Given the description of an element on the screen output the (x, y) to click on. 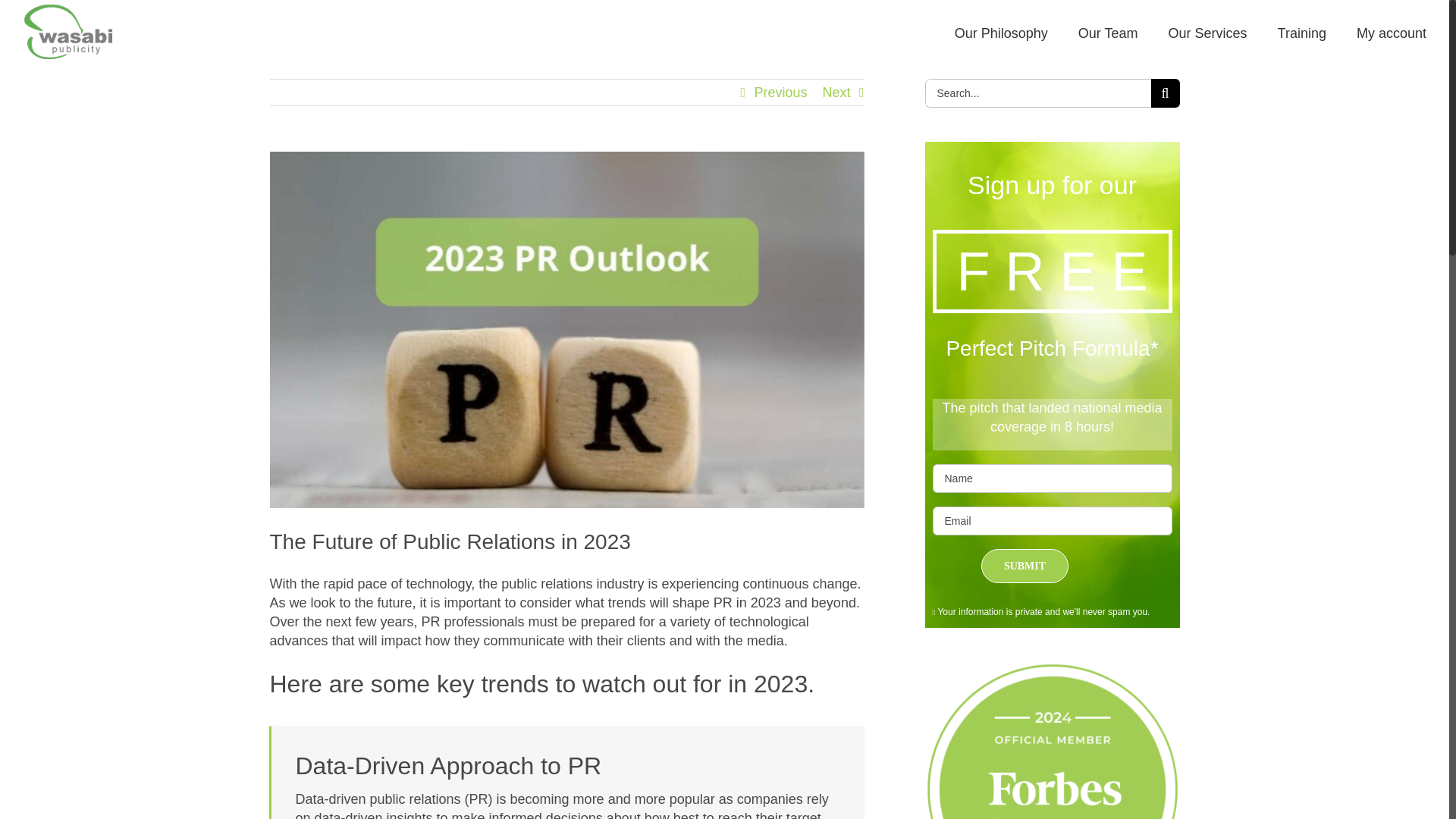
My account (1391, 31)
Our Services (1208, 31)
Submit (1024, 565)
Our Team (1108, 31)
Our Philosophy (1001, 31)
